Given the description of an element on the screen output the (x, y) to click on. 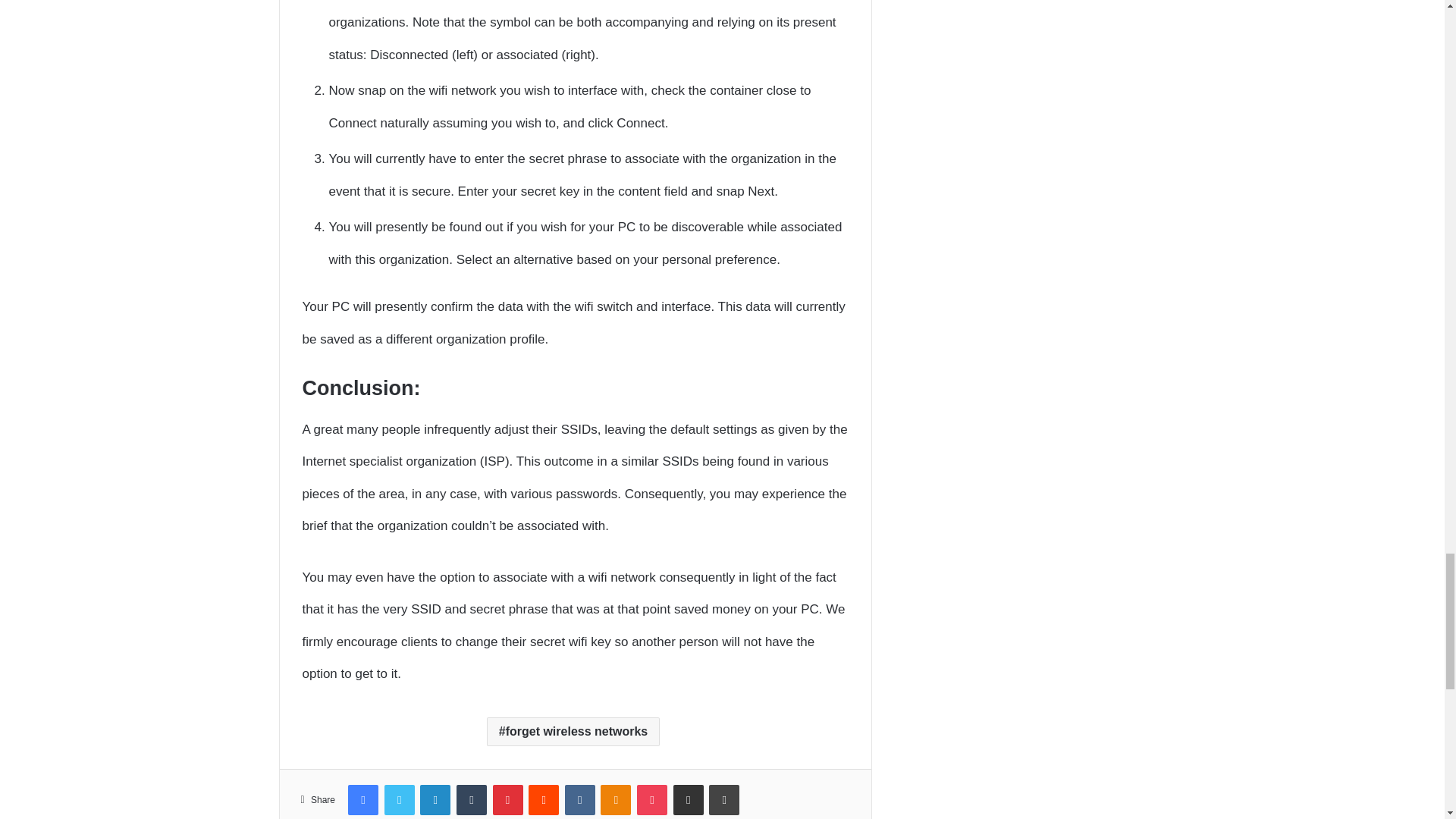
Facebook (362, 799)
forget wireless networks (573, 731)
Tumblr (471, 799)
Pocket (651, 799)
VKontakte (579, 799)
Odnoklassniki (614, 799)
Twitter (399, 799)
Twitter (399, 799)
Share via Email (687, 799)
LinkedIn (434, 799)
